Given the description of an element on the screen output the (x, y) to click on. 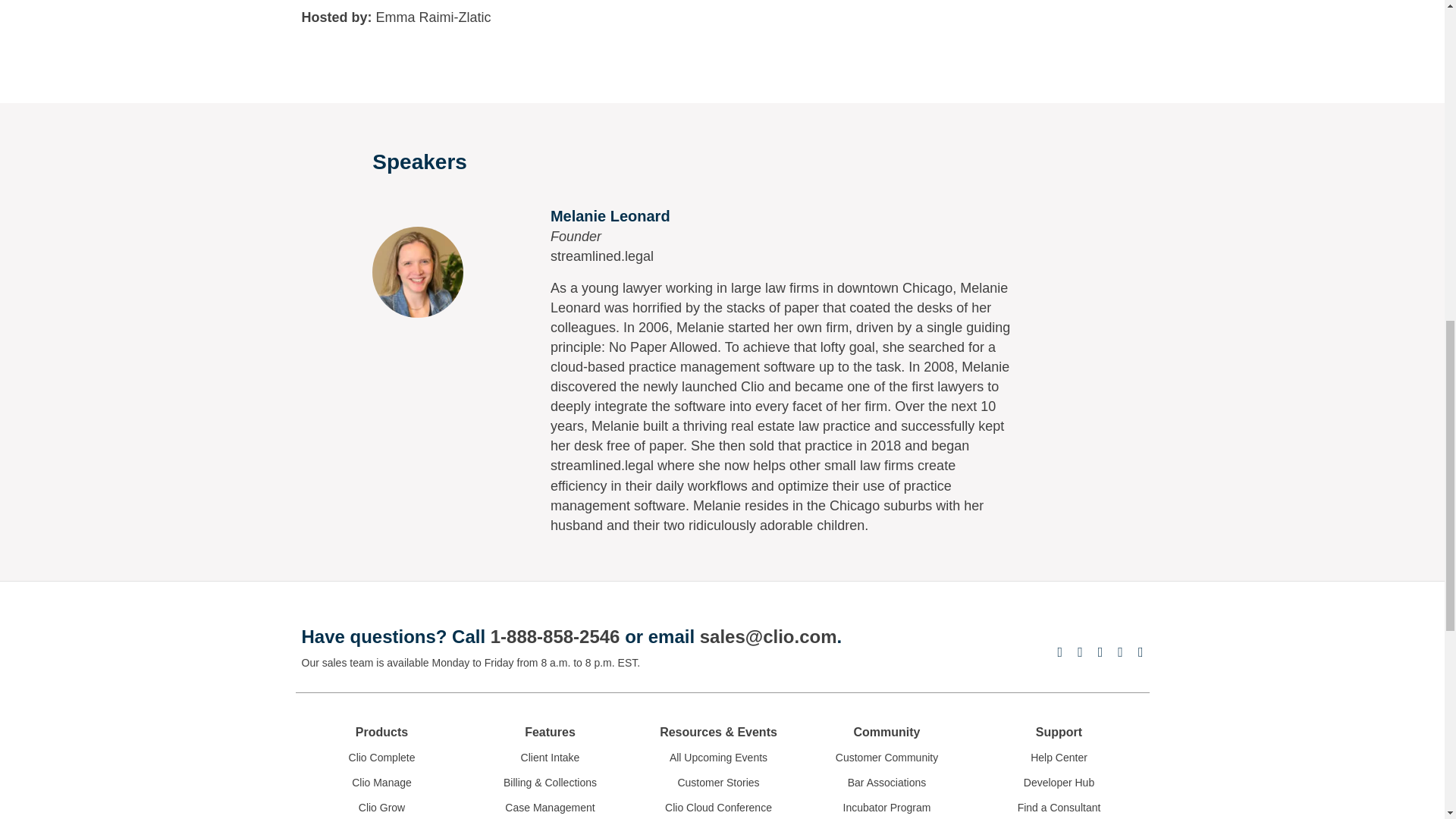
Speakers (417, 271)
